Given the description of an element on the screen output the (x, y) to click on. 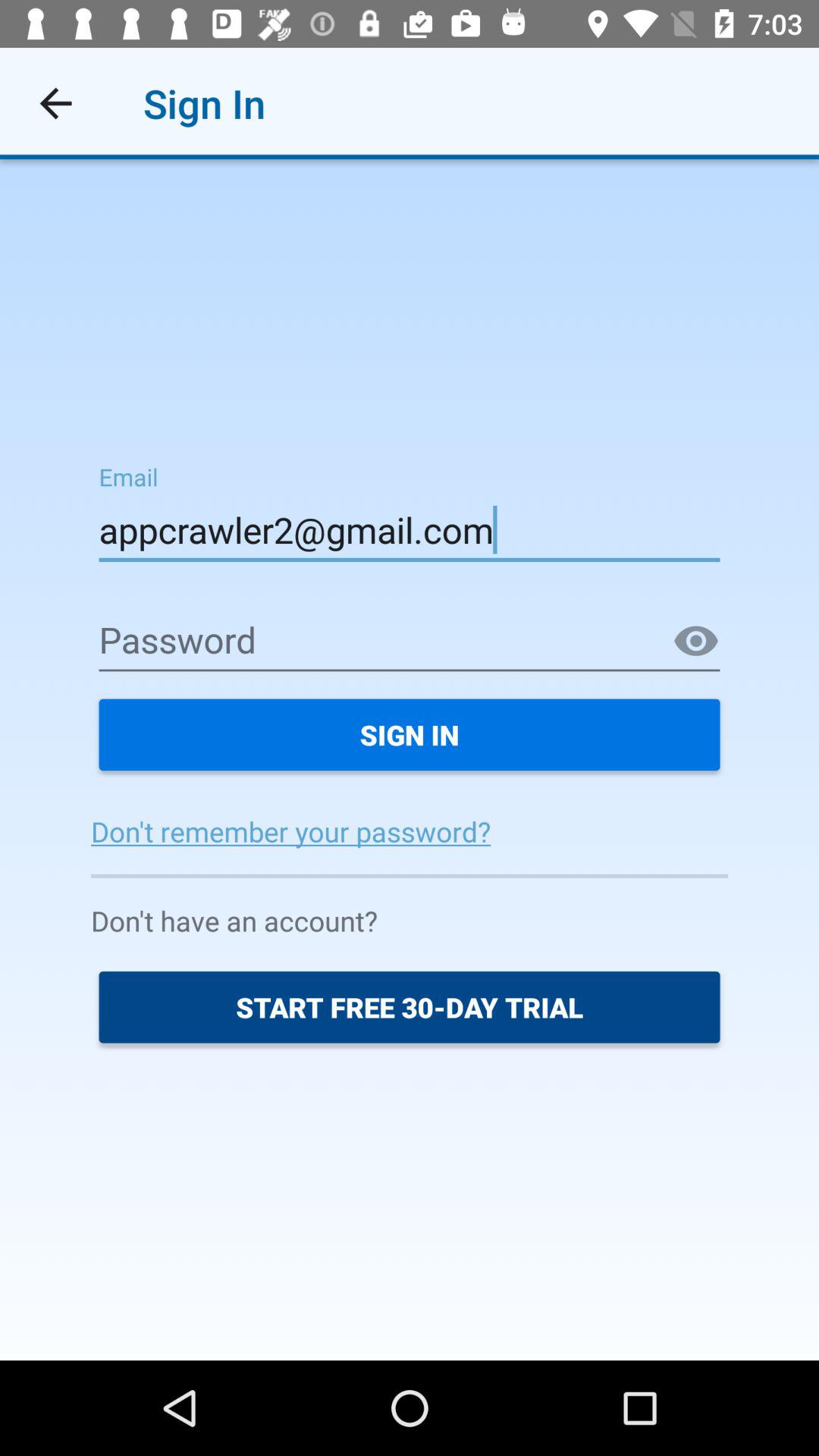
enter password (409, 642)
